Given the description of an element on the screen output the (x, y) to click on. 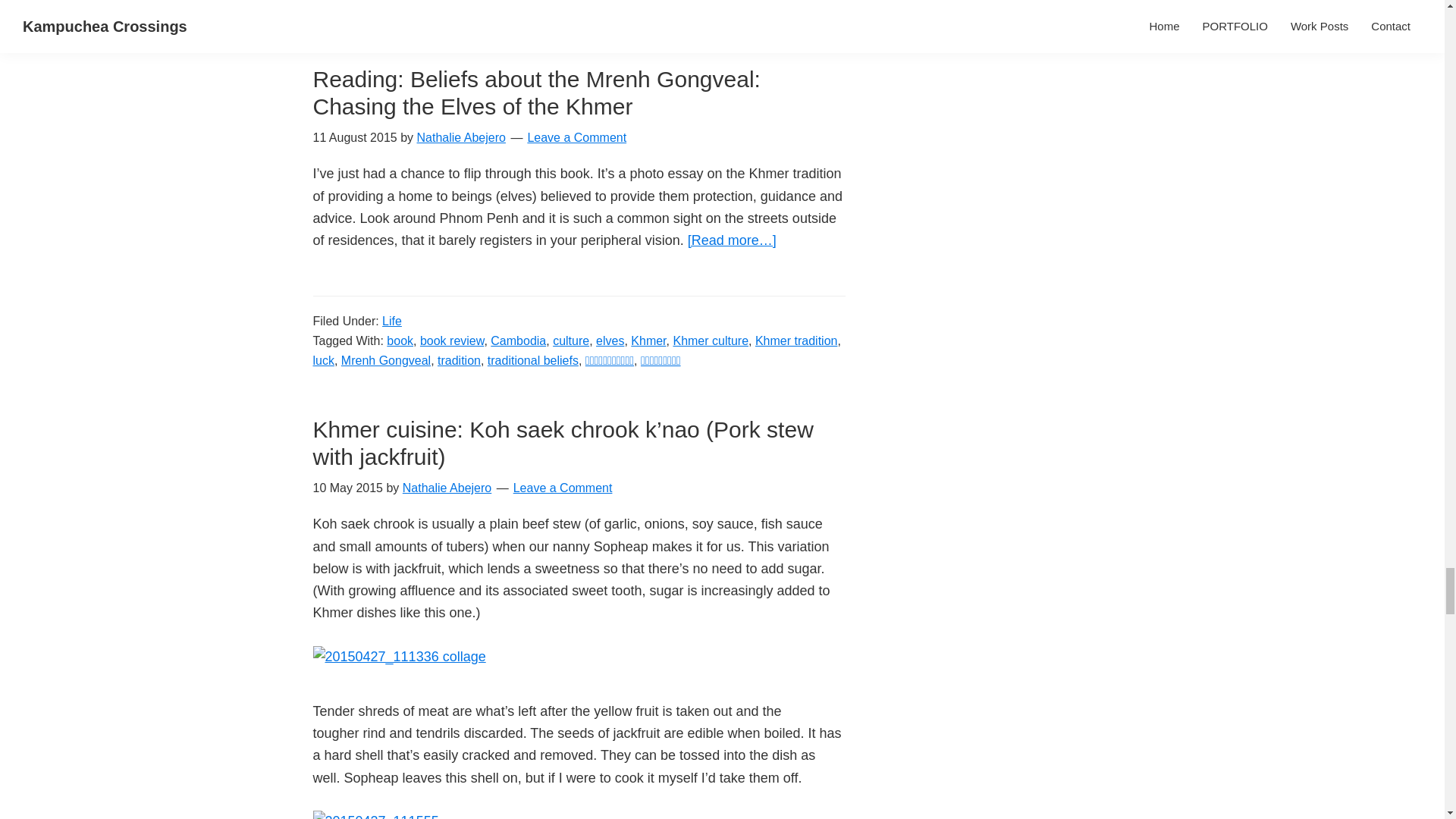
book (400, 340)
Laos food (453, 10)
Nathalie Abejero (460, 137)
Khmer (647, 340)
Thai food (753, 10)
Life (391, 320)
Khmer tradition (796, 340)
Khmer food (388, 10)
book review (452, 340)
som tam (553, 10)
